Given the description of an element on the screen output the (x, y) to click on. 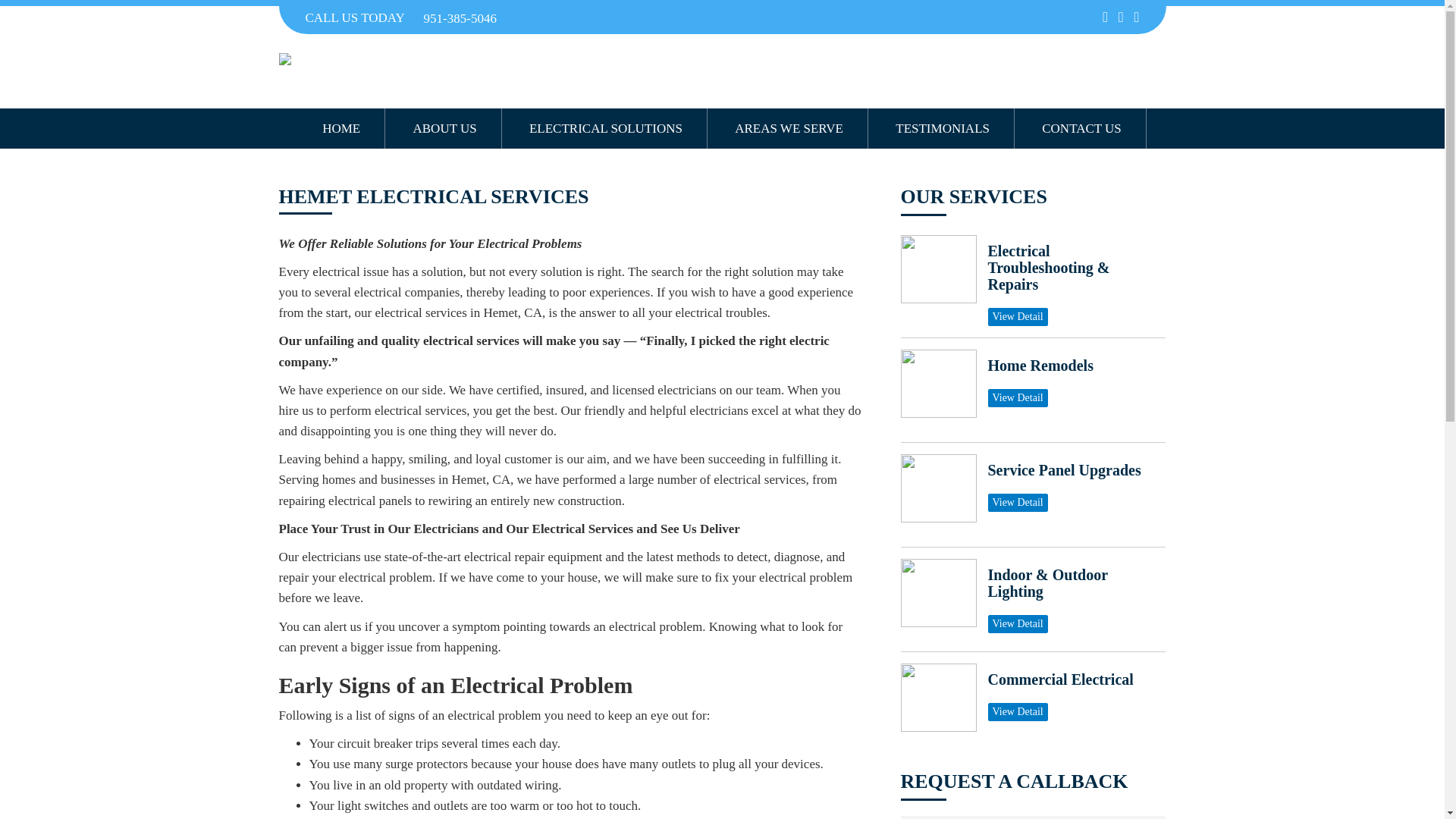
951-385-5046 (461, 17)
View Detail (1016, 624)
CONTACT US (1082, 128)
View Detail (1016, 502)
View Detail (1016, 316)
HOME (341, 128)
TESTIMONIALS (942, 128)
View Detail (1016, 398)
AREAS WE SERVE (788, 128)
ABOUT US (444, 128)
